Given the description of an element on the screen output the (x, y) to click on. 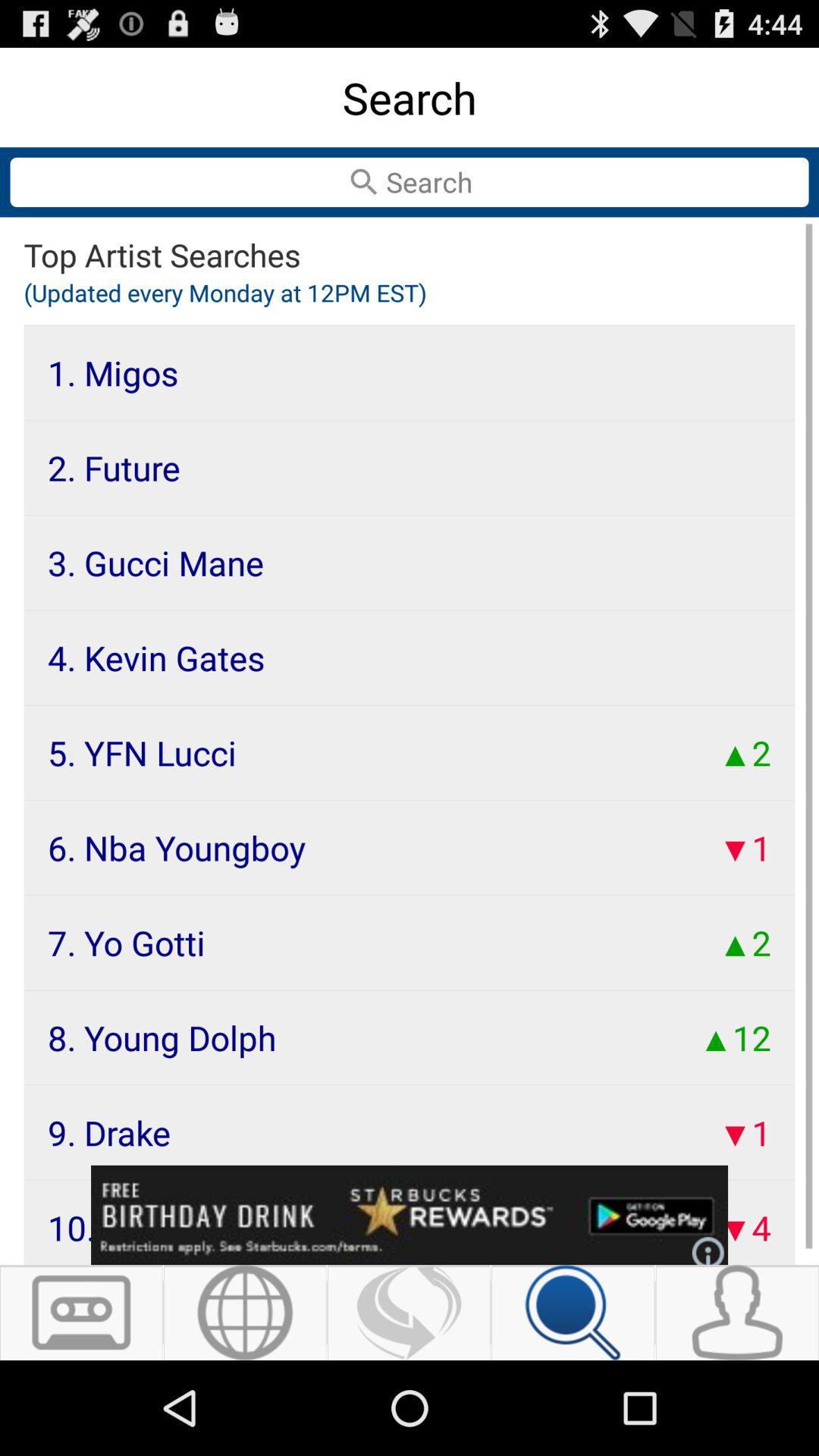
starbucks rewards advertisement (409, 1214)
